Given the description of an element on the screen output the (x, y) to click on. 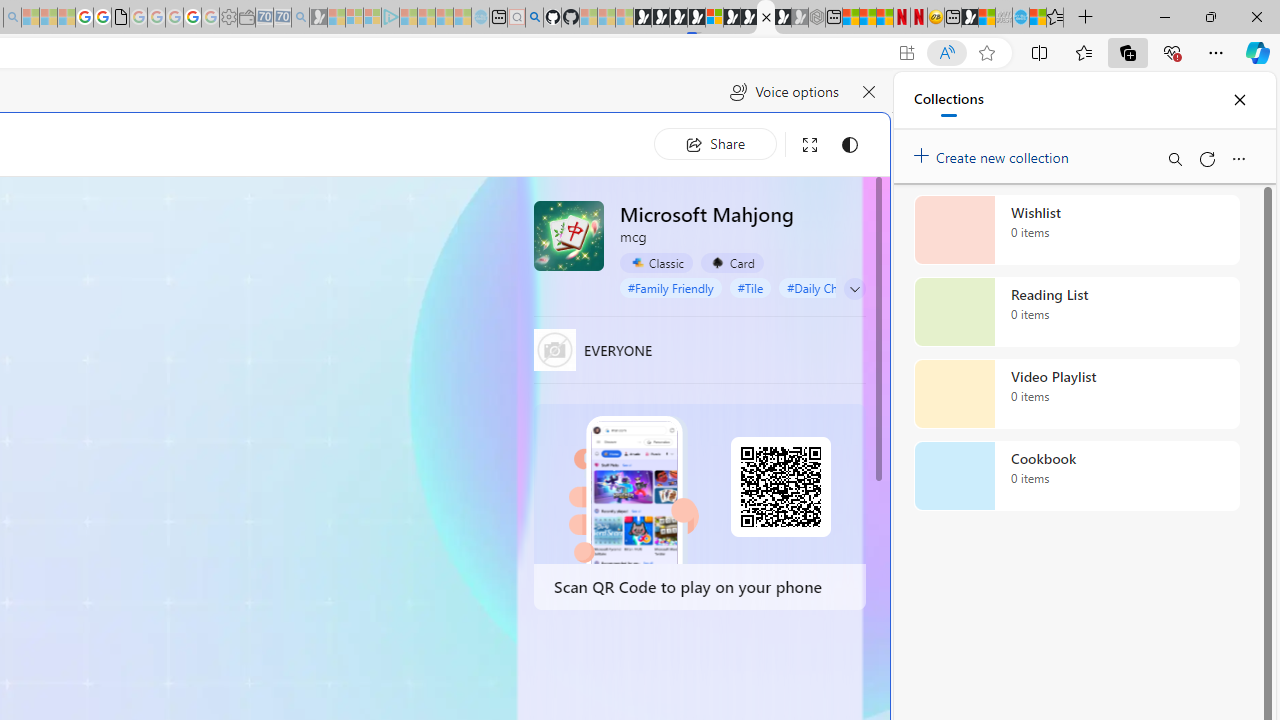
github - Search (534, 17)
Close tab (765, 16)
Settings and more (Alt+F) (1215, 52)
Refresh (1206, 158)
#Tile (750, 287)
Cookbook collection, 0 items (1076, 475)
Change to dark mode (849, 144)
Add this page to favorites (Ctrl+D) (986, 53)
Search (1174, 158)
Close (1239, 99)
More options menu (1238, 158)
World - MSN (986, 17)
